Given the description of an element on the screen output the (x, y) to click on. 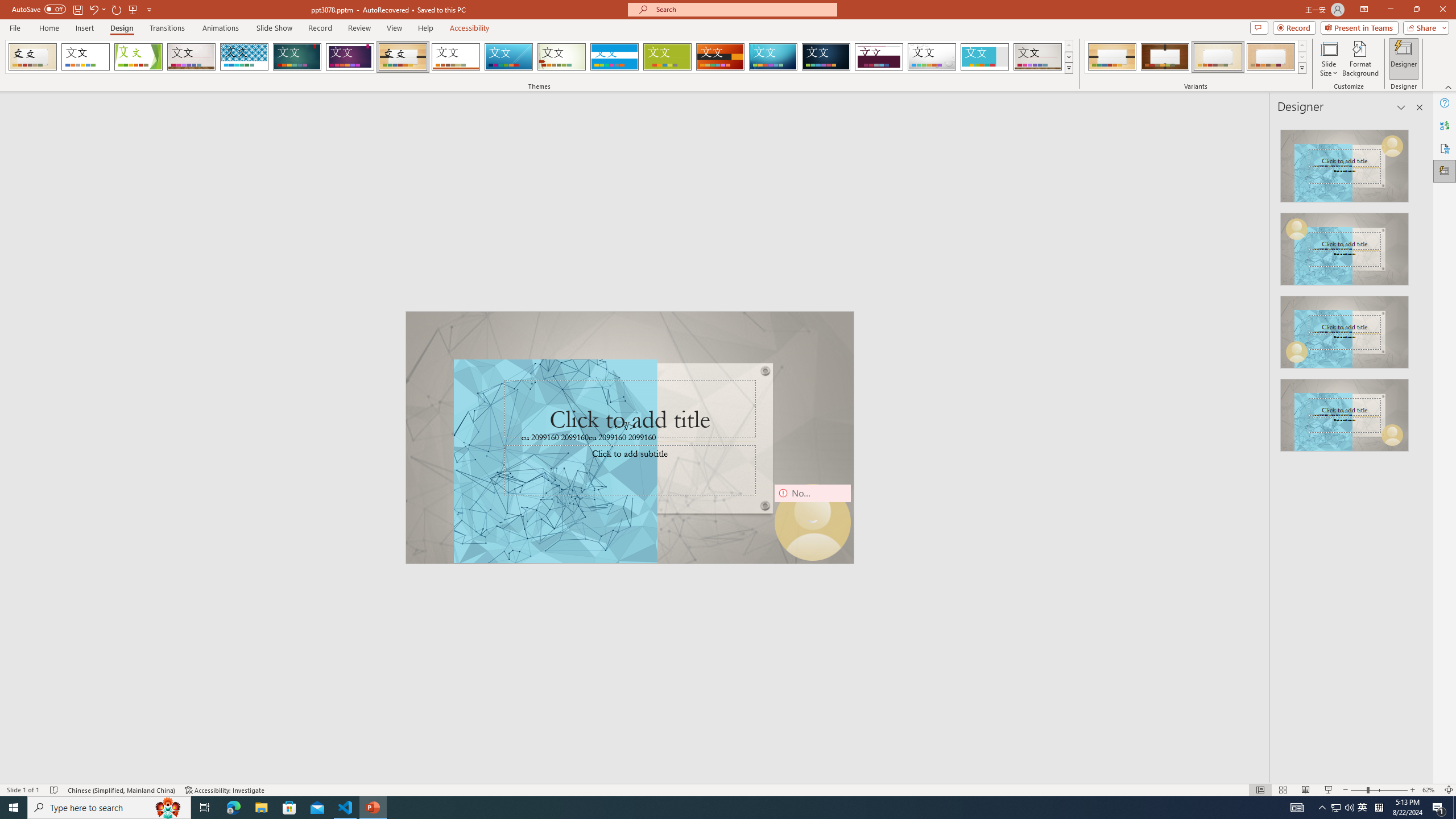
An abstract genetic concept (629, 437)
Frame (984, 56)
Retrospect (455, 56)
Themes (1068, 67)
Facet (138, 56)
